Given the description of an element on the screen output the (x, y) to click on. 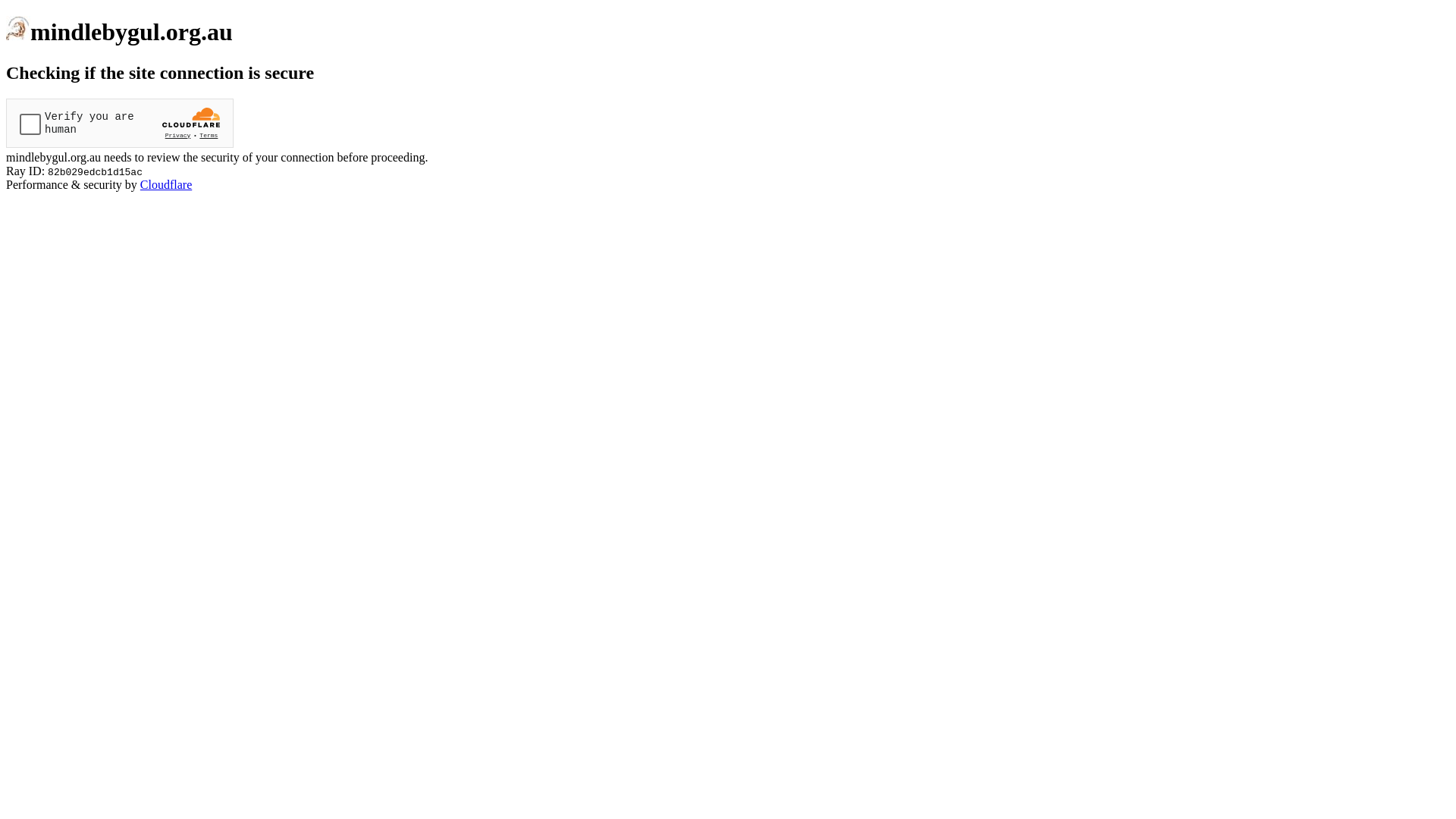
Widget containing a Cloudflare security challenge Element type: hover (119, 122)
Cloudflare Element type: text (165, 184)
